Given the description of an element on the screen output the (x, y) to click on. 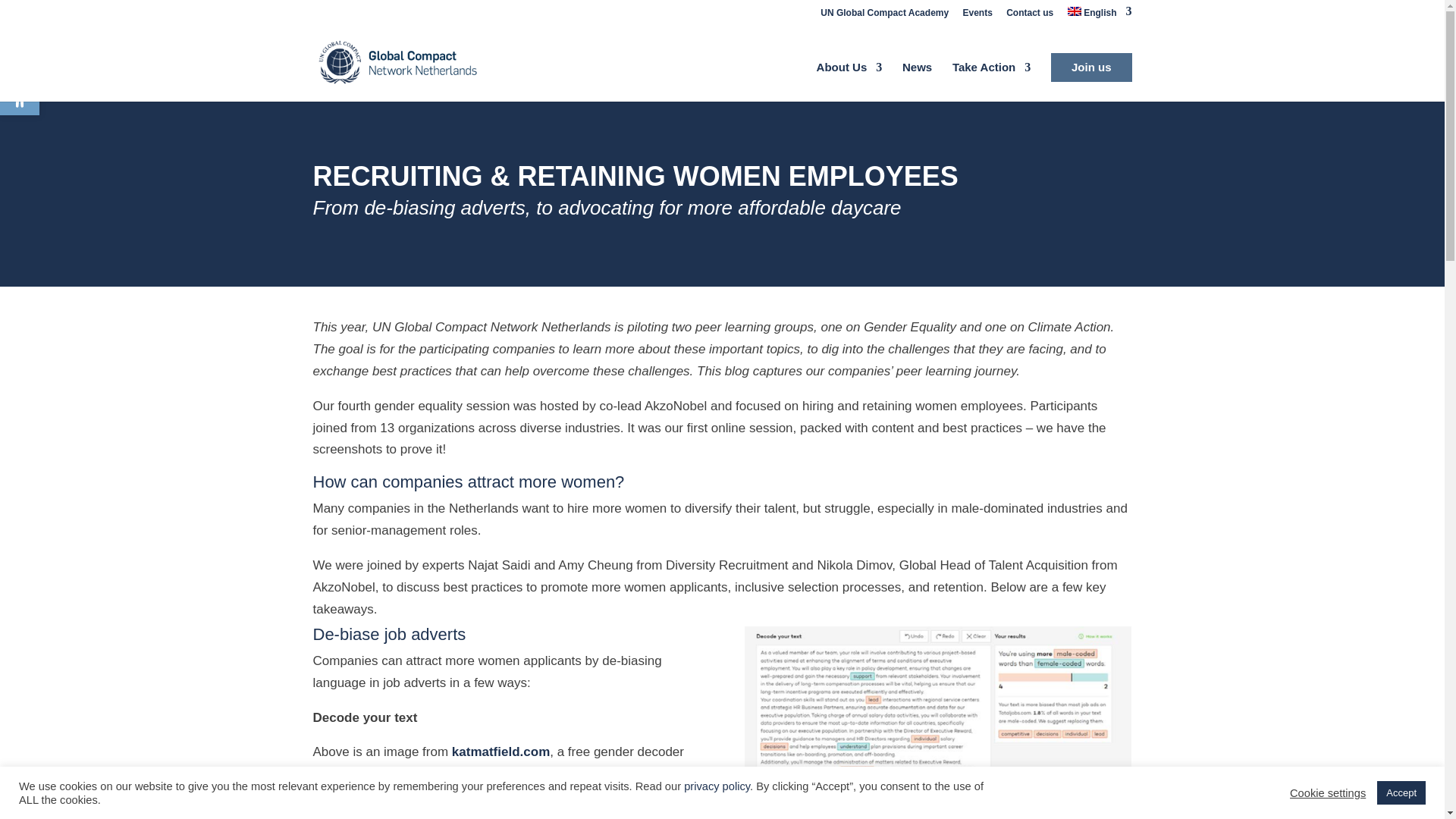
Events (977, 16)
English (19, 95)
UN Global Compact Academy (1099, 15)
Contact us (885, 16)
About Us (1029, 16)
English (849, 81)
decode your text - Gender blog (1099, 15)
Take Action (937, 713)
Accessibility (991, 81)
